Given the description of an element on the screen output the (x, y) to click on. 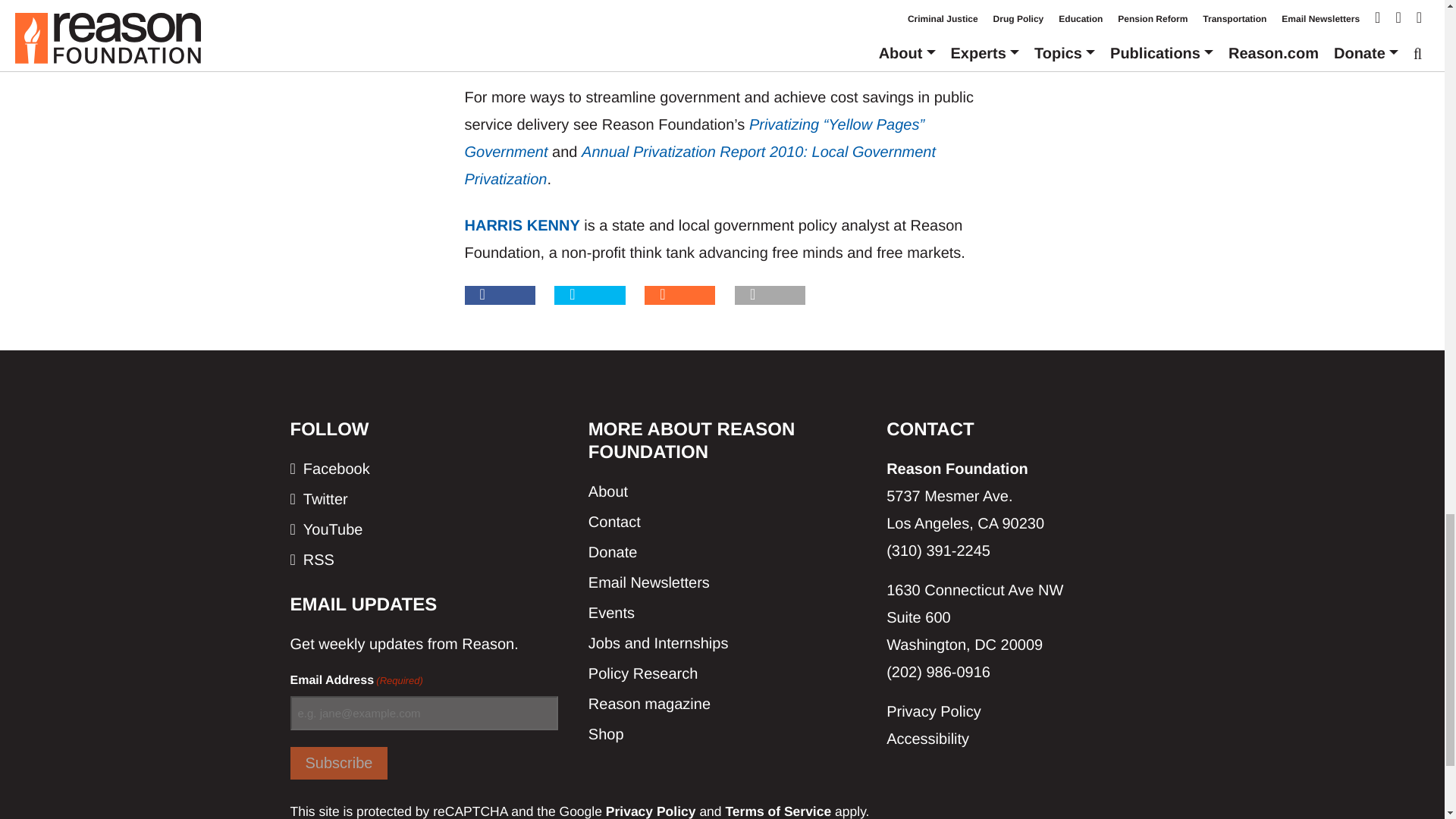
Subscribe (338, 762)
